Given the description of an element on the screen output the (x, y) to click on. 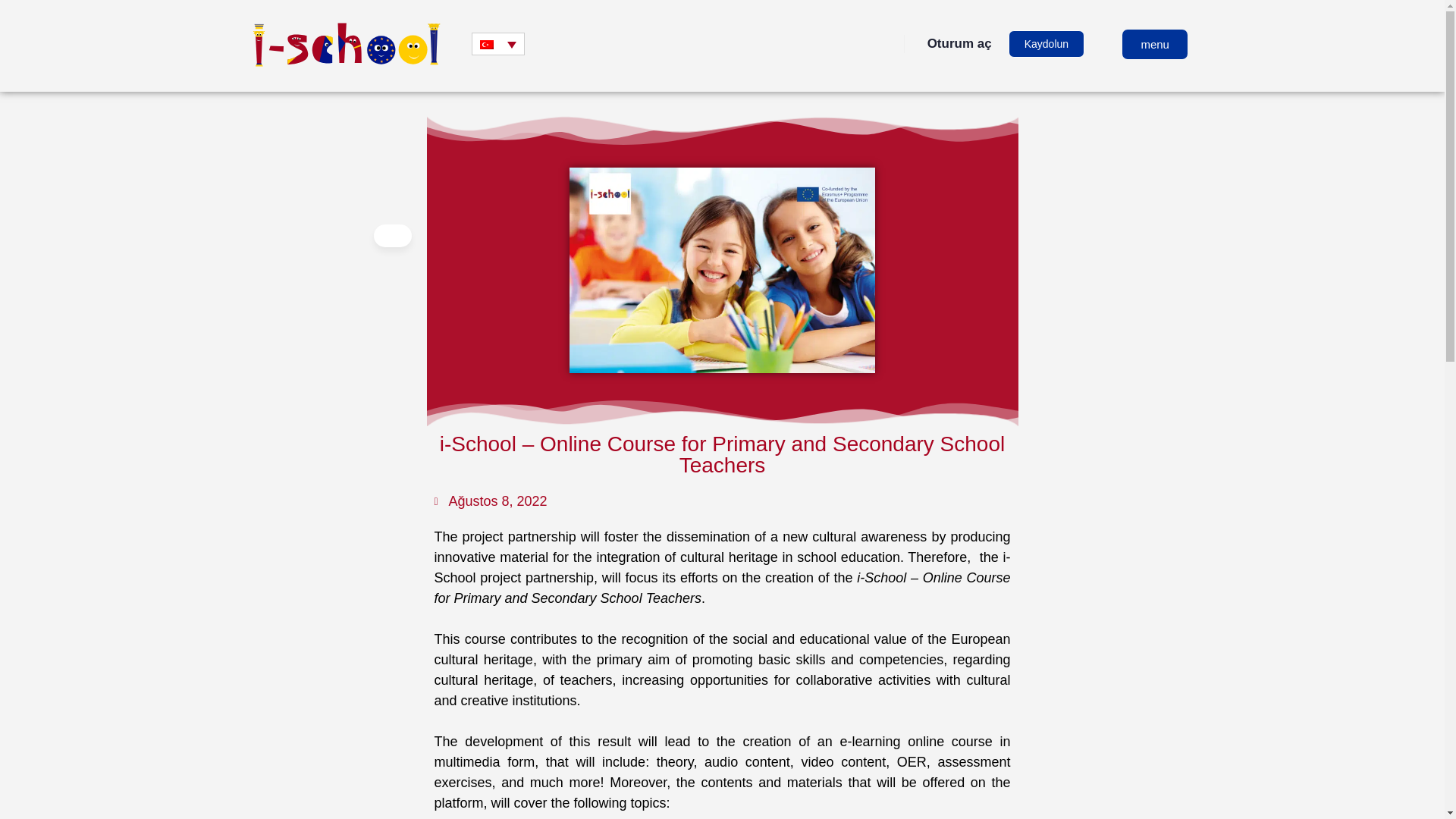
Kaydolun (1046, 43)
menu (1155, 43)
